Given the description of an element on the screen output the (x, y) to click on. 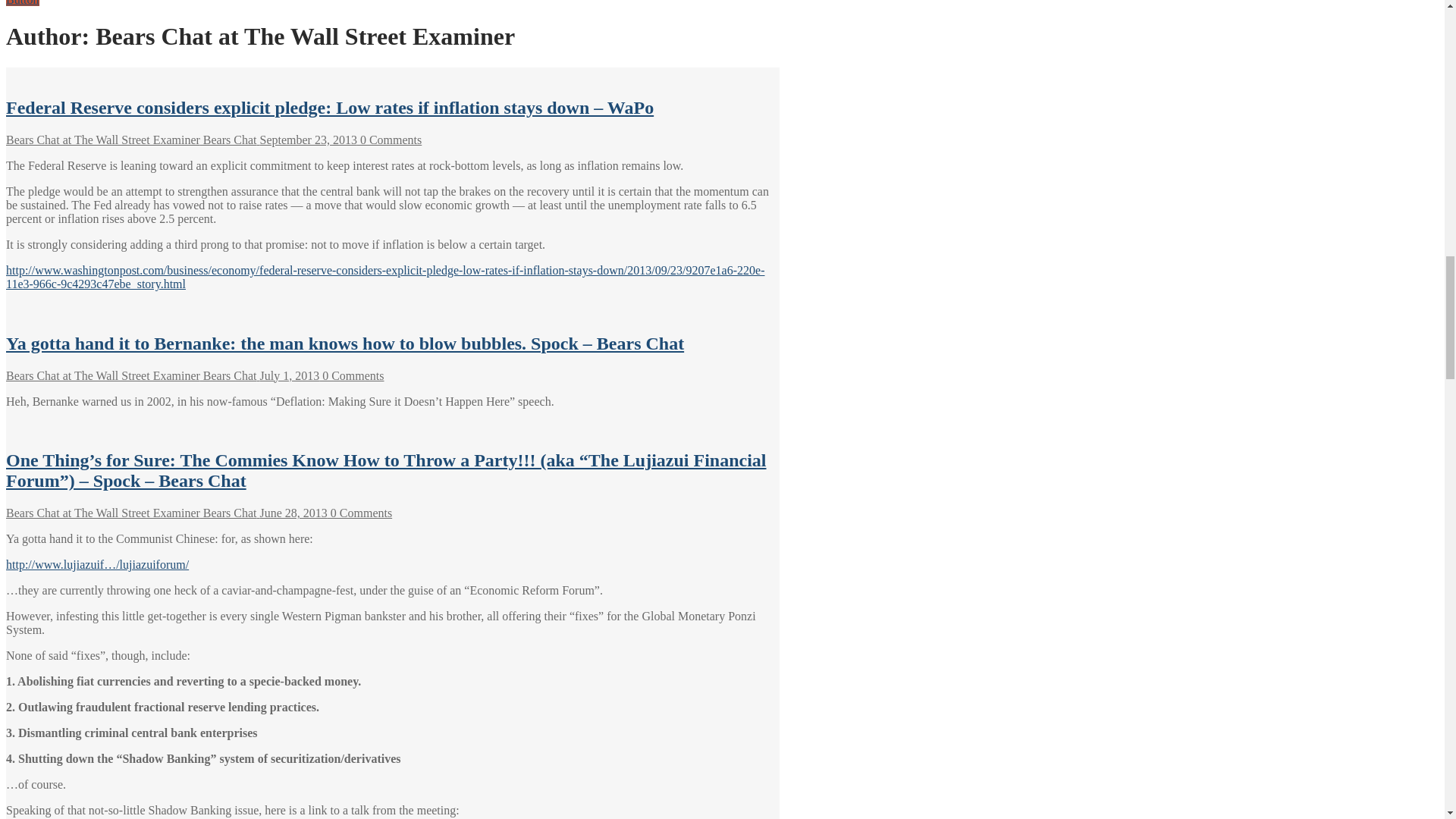
Bears Chat at The Wall Street Examiner (102, 139)
0 Comments (389, 139)
Button (22, 2)
September 23, 2013 (306, 139)
Bears Chat (228, 139)
